Given the description of an element on the screen output the (x, y) to click on. 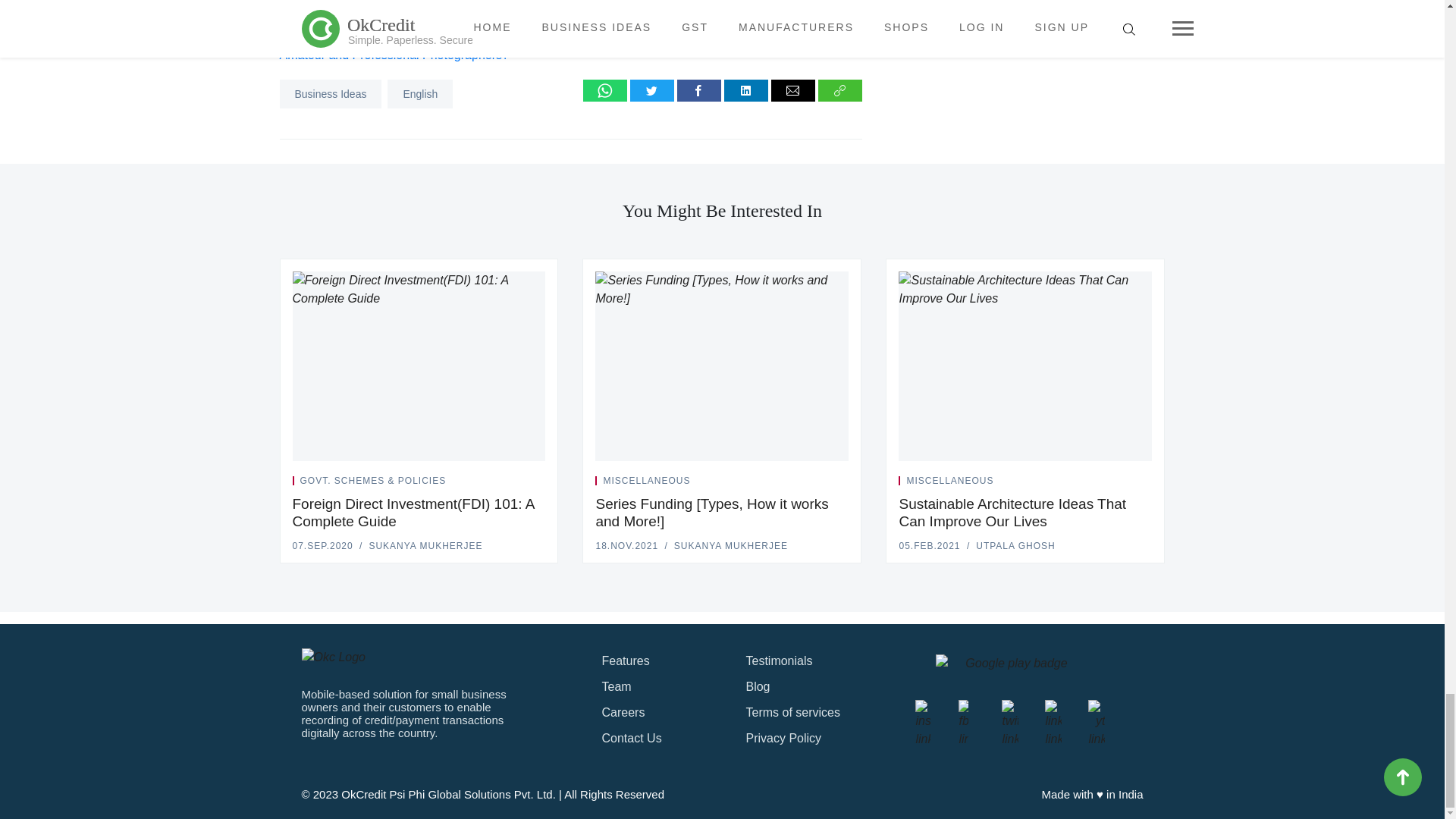
Share on Facebook (698, 90)
Share via Email (793, 90)
07 September 2020 (322, 545)
Copy link (839, 90)
Share on Twitter (652, 90)
Share on LinkedIn (745, 90)
Share via Whatsapp (605, 90)
